Given the description of an element on the screen output the (x, y) to click on. 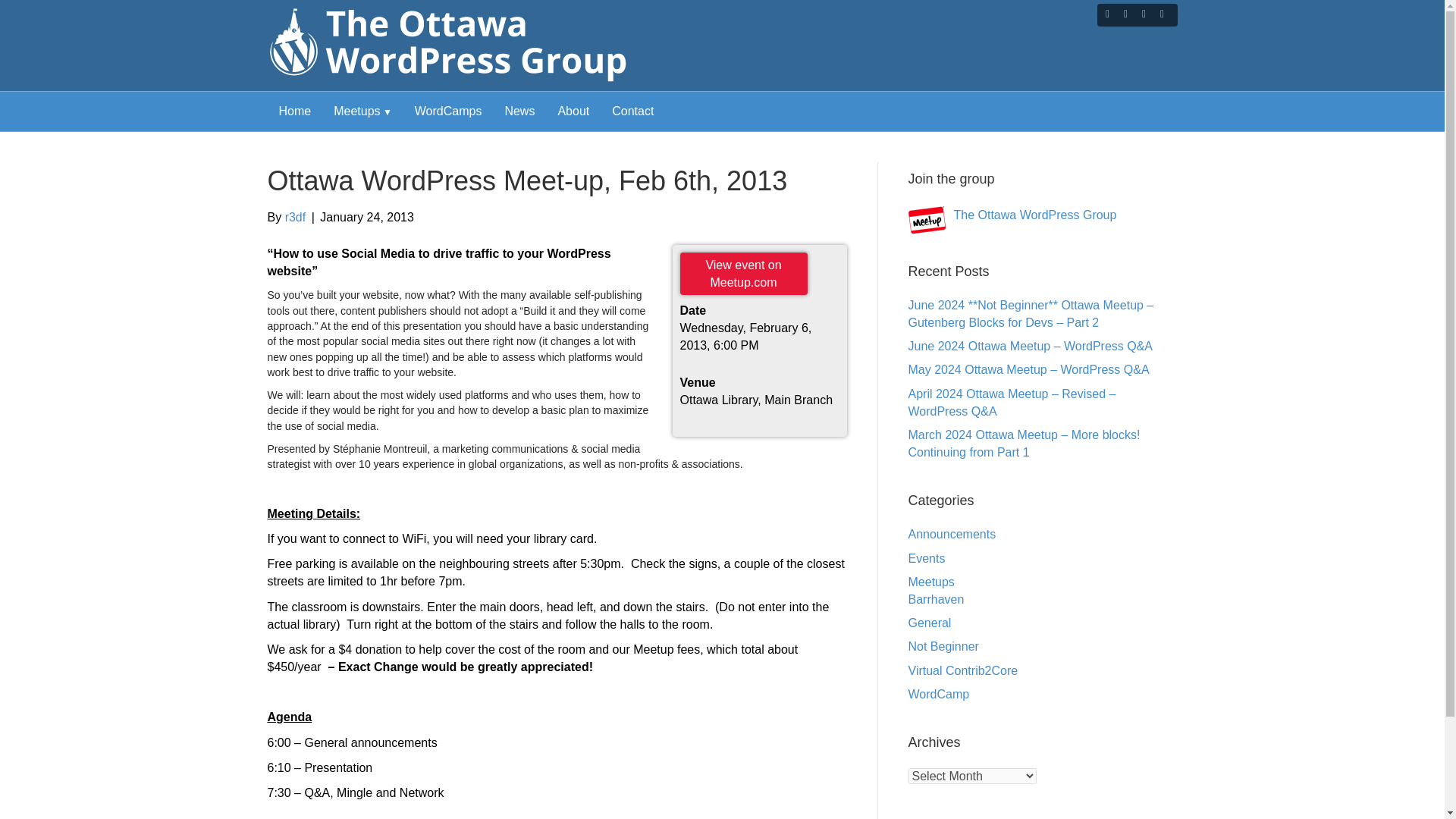
Meetups (362, 111)
View event on Meetup.com (742, 273)
News (519, 111)
The Ottawa WordPress Group (1012, 213)
About (572, 111)
Facebook (1106, 13)
Youtube (1161, 13)
WordCamps (448, 111)
Twitter (1125, 13)
Home (293, 111)
Contact (632, 111)
Linkedin (1143, 13)
r3df (295, 216)
